Given the description of an element on the screen output the (x, y) to click on. 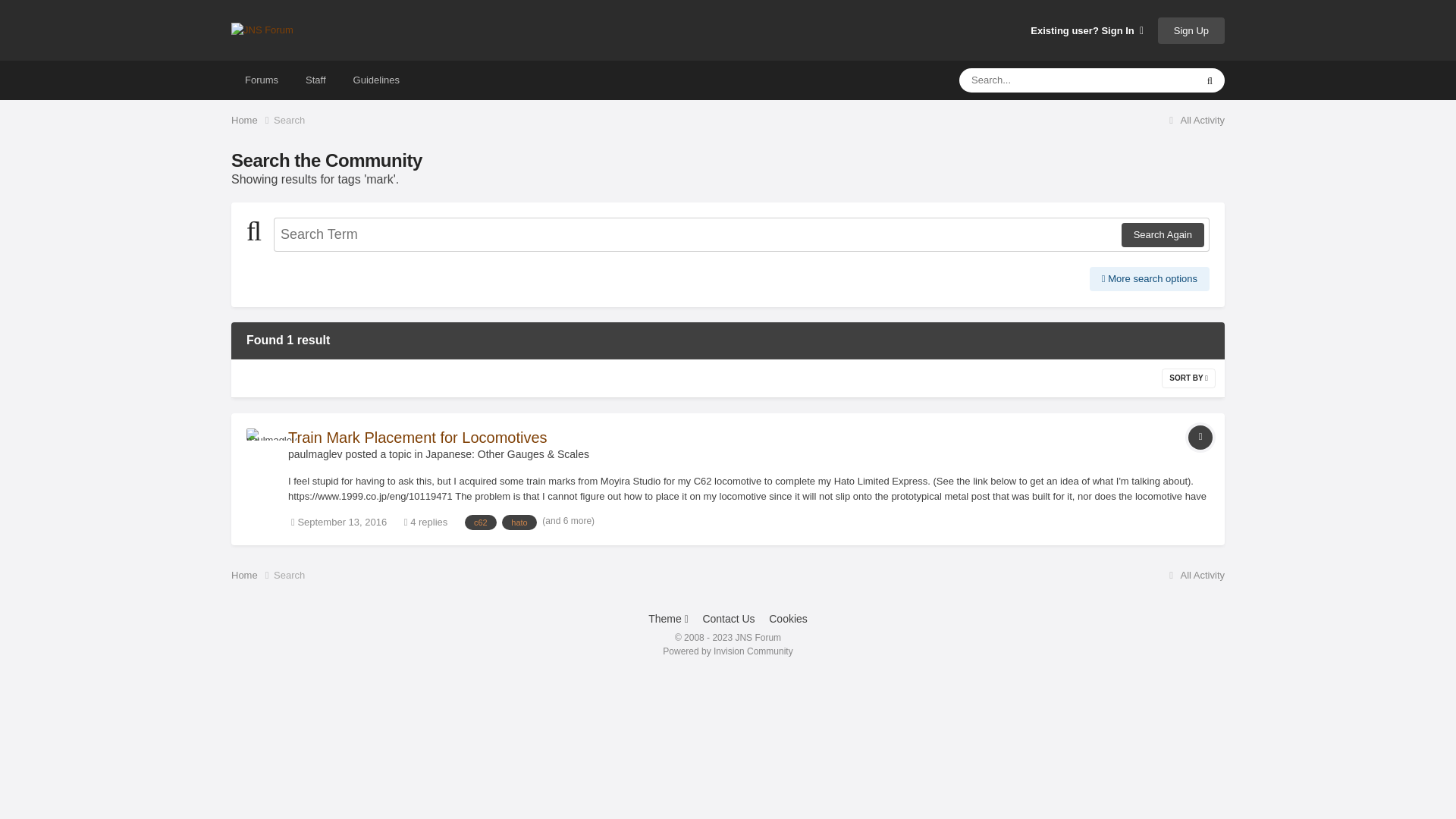
Guidelines (376, 79)
Home (252, 120)
More search options (1149, 278)
Forums (261, 79)
Search Again (1162, 234)
Find other content tagged with 'hato' (518, 522)
Sign Up (1190, 29)
Invision Community (727, 651)
SORT BY (1188, 378)
All Activity (1194, 120)
